Given the description of an element on the screen output the (x, y) to click on. 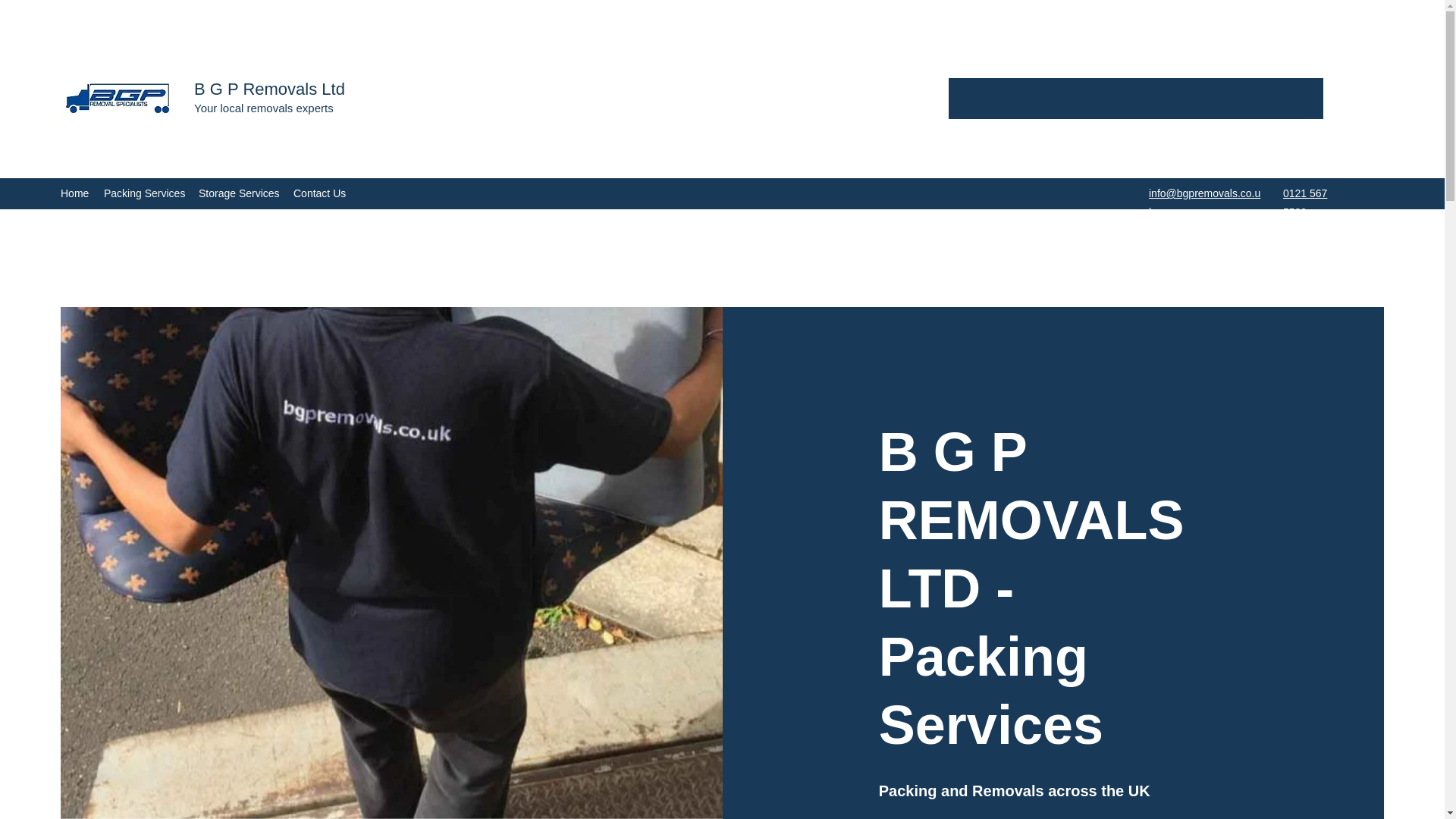
Contact Us (318, 193)
Home (74, 193)
0121 567 5539 (1304, 202)
Storage Services (237, 193)
B G P Removals Ltd (269, 88)
Packing Services (143, 193)
